Given the description of an element on the screen output the (x, y) to click on. 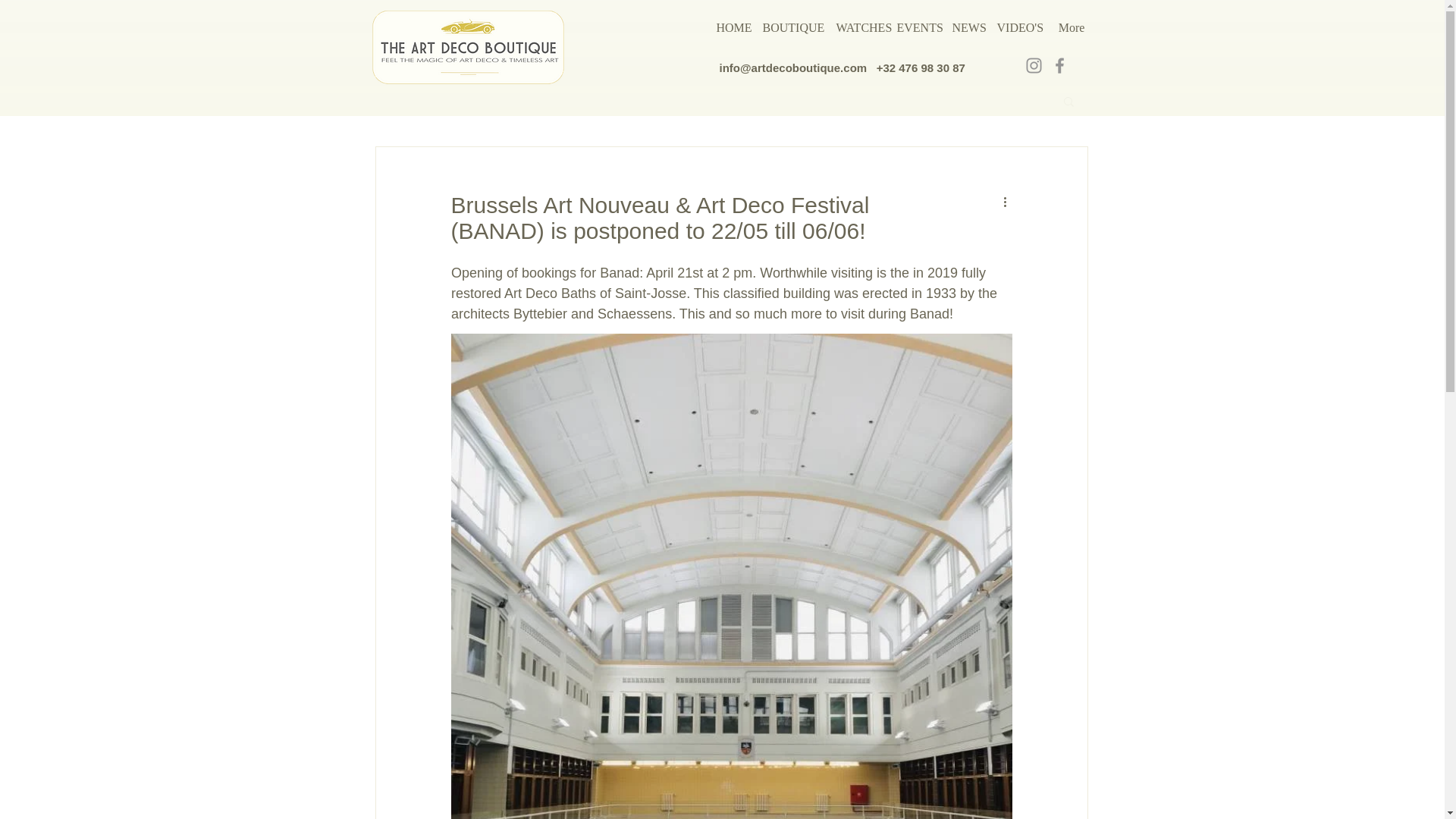
VIDEO'S (1018, 27)
HOME (730, 27)
EVENTS (915, 27)
NEWS (967, 27)
WATCHES (858, 27)
